Given the description of an element on the screen output the (x, y) to click on. 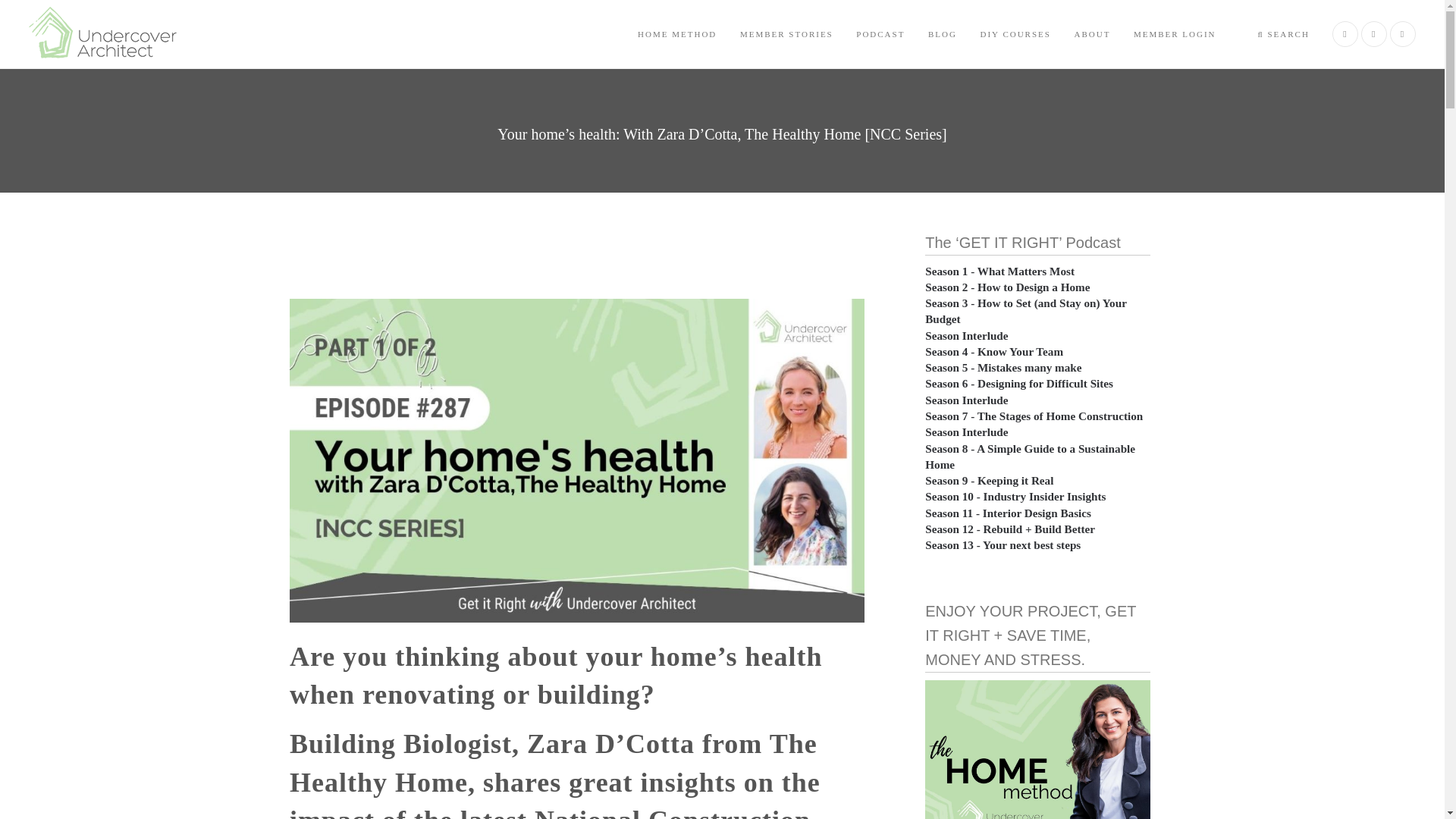
ABOUT (1091, 33)
SEARCH (1282, 33)
HOME METHOD (676, 33)
Undercover Architect (112, 33)
MEMBER LOGIN (1174, 33)
DIY COURSES (1014, 33)
BLOG (942, 33)
MEMBER STORIES (785, 33)
PODCAST (880, 33)
